Given the description of an element on the screen output the (x, y) to click on. 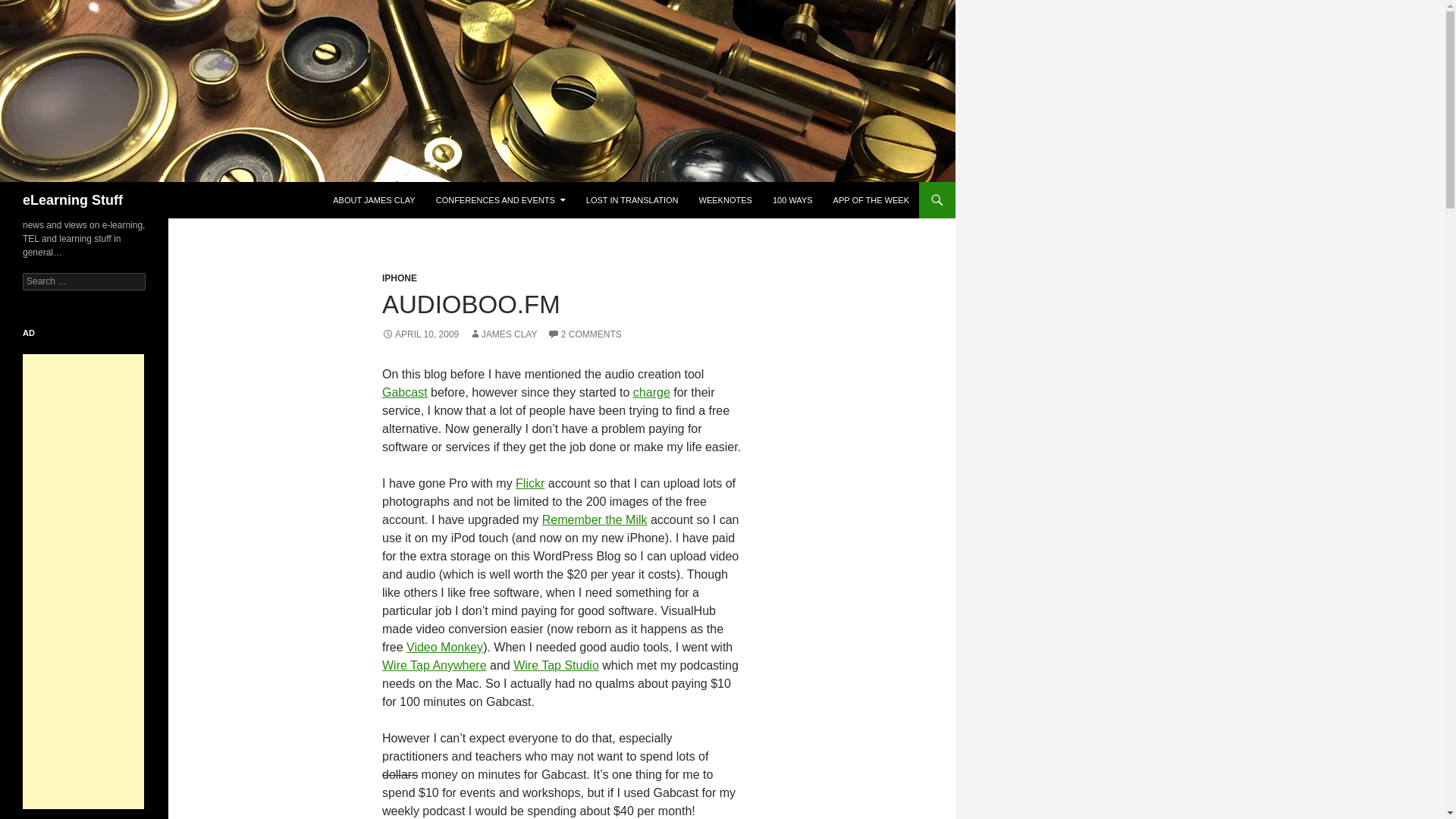
100 WAYS (792, 199)
Gabcast (404, 391)
Remember the Milk (594, 519)
Wire Tap Anywhere (433, 665)
Wire Tap Studio (555, 665)
JAMES CLAY (502, 334)
2 COMMENTS (584, 334)
eLearning Stuff (72, 199)
Flickr (529, 482)
charge (651, 391)
LOST IN TRANSLATION (631, 199)
APP OF THE WEEK (871, 199)
IPHONE (398, 277)
